Given the description of an element on the screen output the (x, y) to click on. 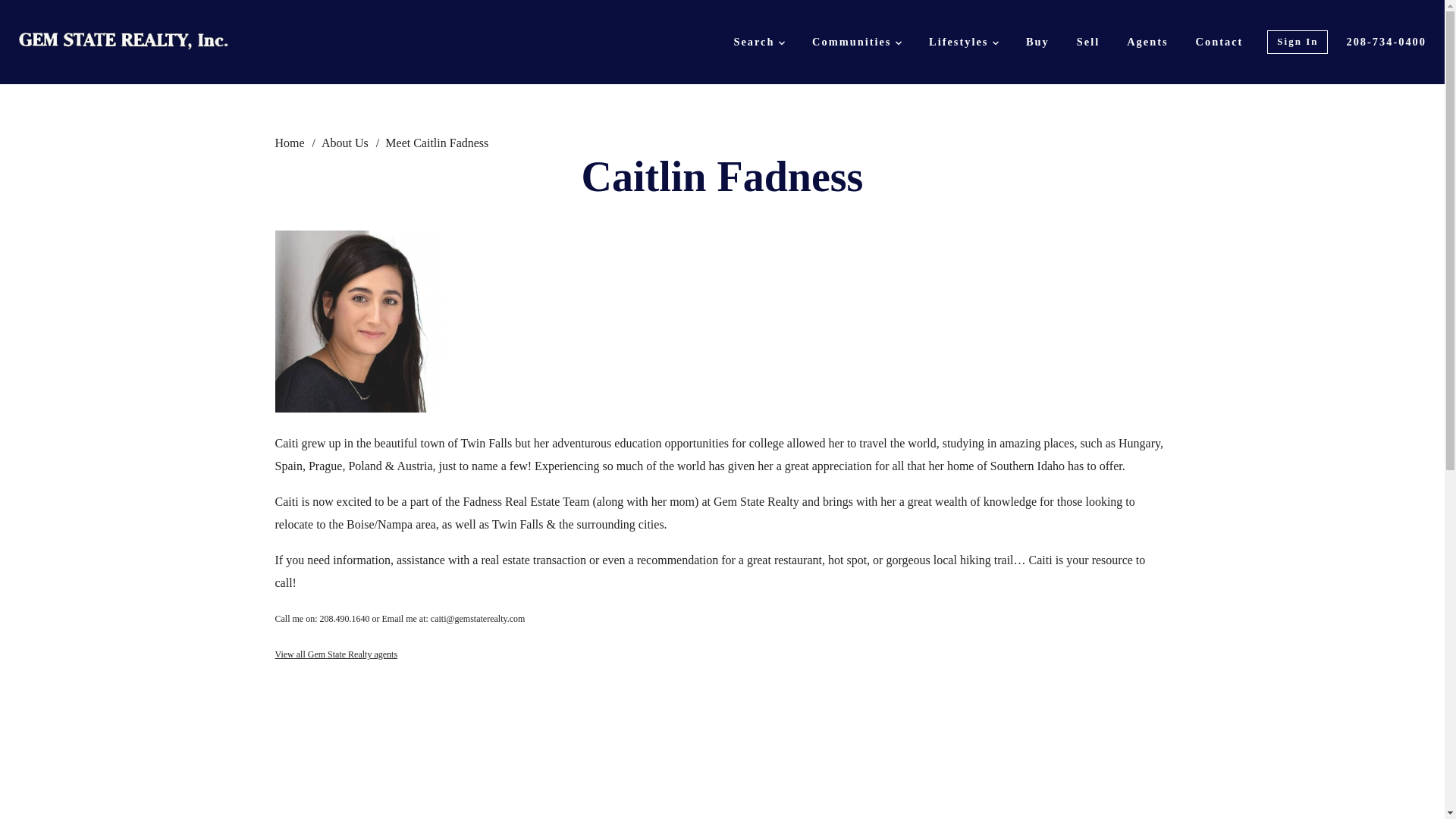
Dropdown Arrow (781, 42)
Dropdown Arrow (898, 42)
Search Dropdown Arrow (758, 41)
Contact (1219, 41)
Dropdown Arrow (995, 42)
Agents (1147, 41)
Lifestyles Dropdown Arrow (963, 41)
Sign In (1296, 42)
Communities Dropdown Arrow (856, 41)
Buy (1037, 41)
Sell (1087, 41)
